Given the description of an element on the screen output the (x, y) to click on. 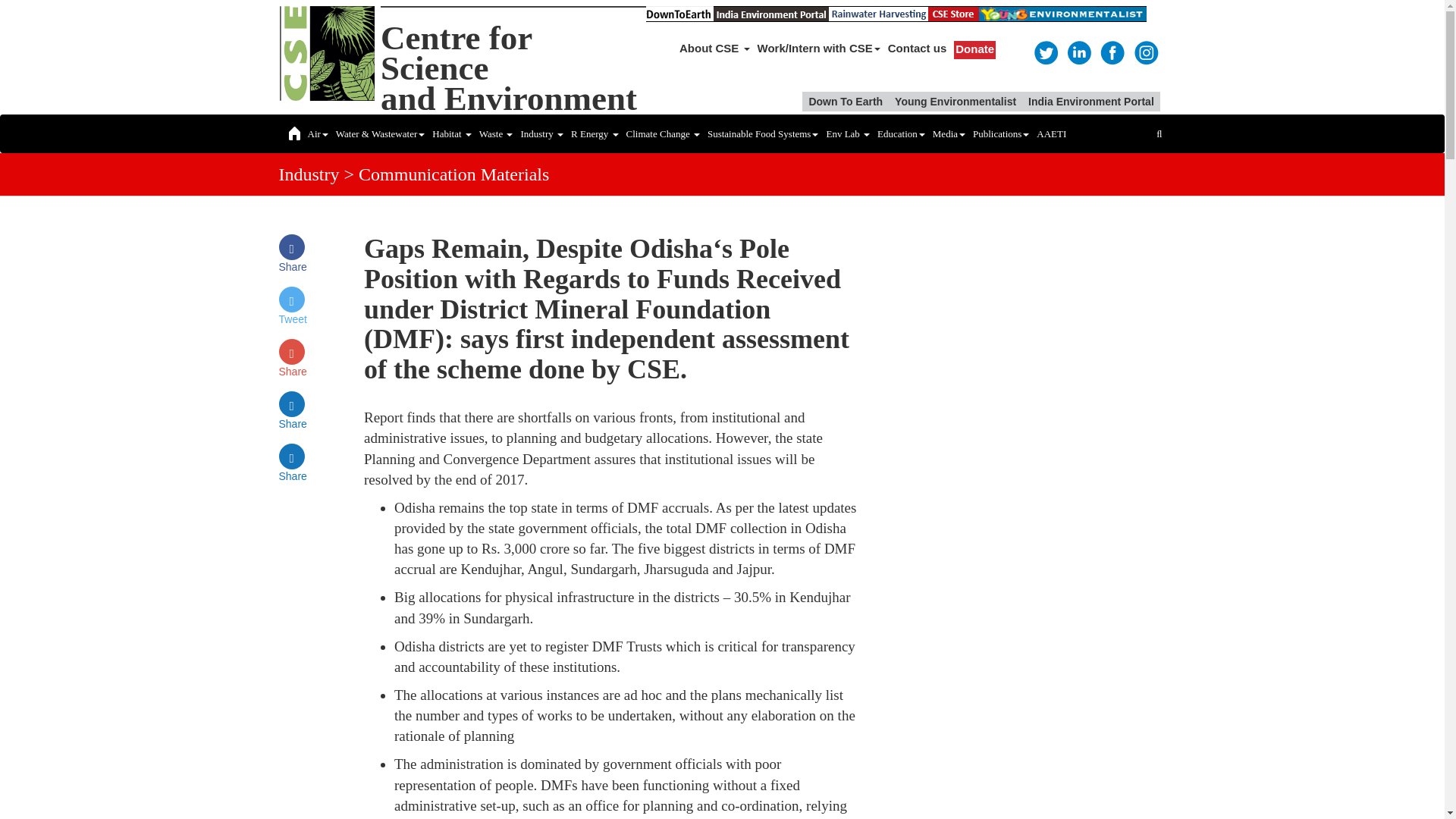
Instagram (1145, 51)
Young Environmentalist (954, 101)
India Environment Portal (1091, 101)
Air (316, 133)
About CSE (508, 67)
Contact us (714, 48)
Down To Earth (916, 48)
Twitter (845, 101)
Facebook (1045, 51)
